Given the description of an element on the screen output the (x, y) to click on. 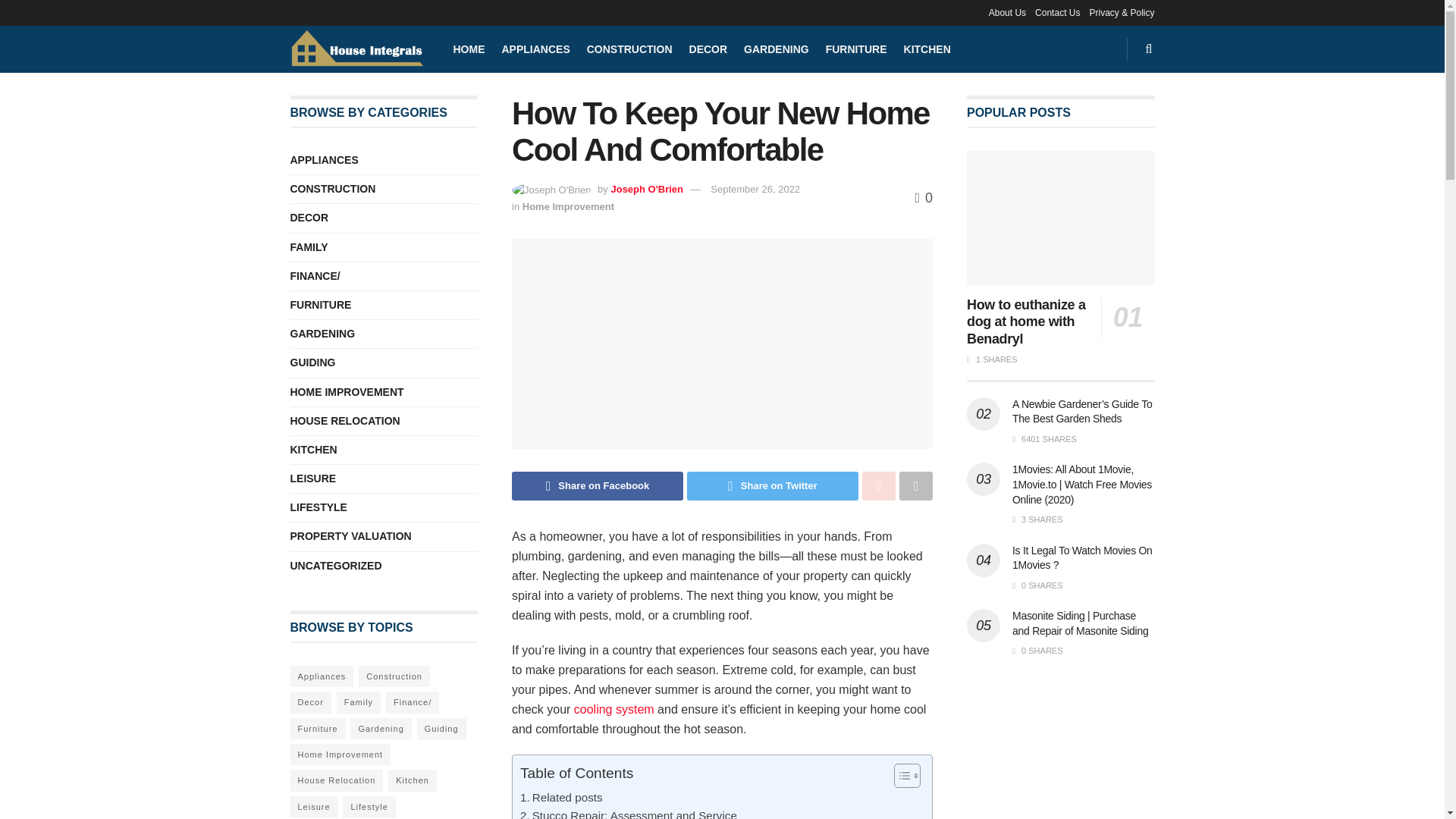
cooling system (613, 708)
KITCHEN (927, 48)
GARDENING (776, 48)
Related posts (560, 797)
FURNITURE (855, 48)
Share on Twitter (773, 485)
Home Improvement (568, 206)
Share on Facebook (597, 485)
September 26, 2022 (754, 188)
